Given the description of an element on the screen output the (x, y) to click on. 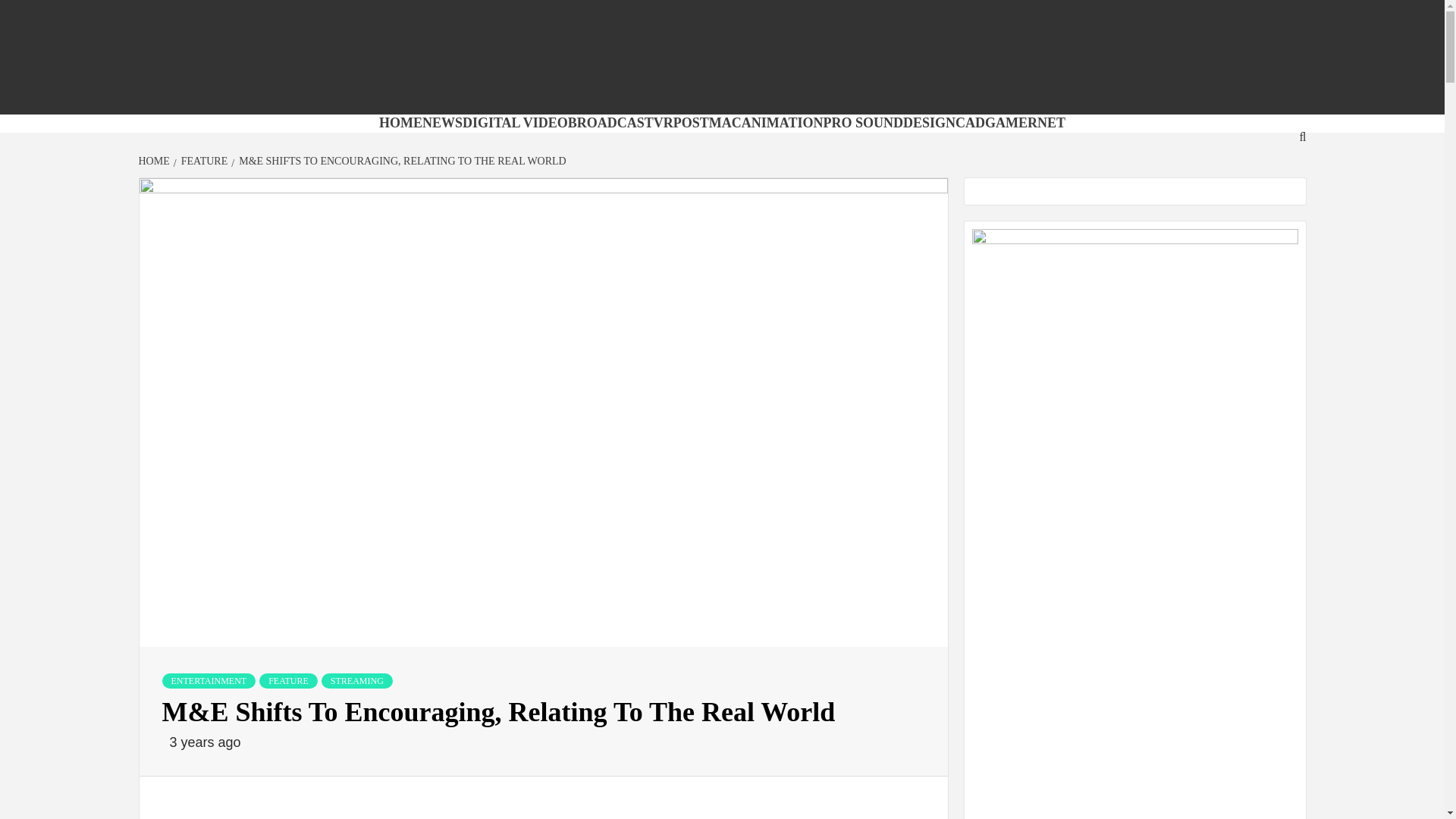
CAD (970, 122)
GAMERNET (1025, 122)
MAC (725, 122)
FEATURE (288, 680)
HOME (400, 122)
POST (690, 122)
STREAMING (357, 680)
DESIGN (928, 122)
PRO SOUND (864, 122)
BROADCAST (610, 122)
FEATURE (202, 161)
DIGITAL MEDIA NET (526, 101)
ENTERTAINMENT (208, 680)
VR (662, 122)
DIGITAL VIDEO (515, 122)
